Given the description of an element on the screen output the (x, y) to click on. 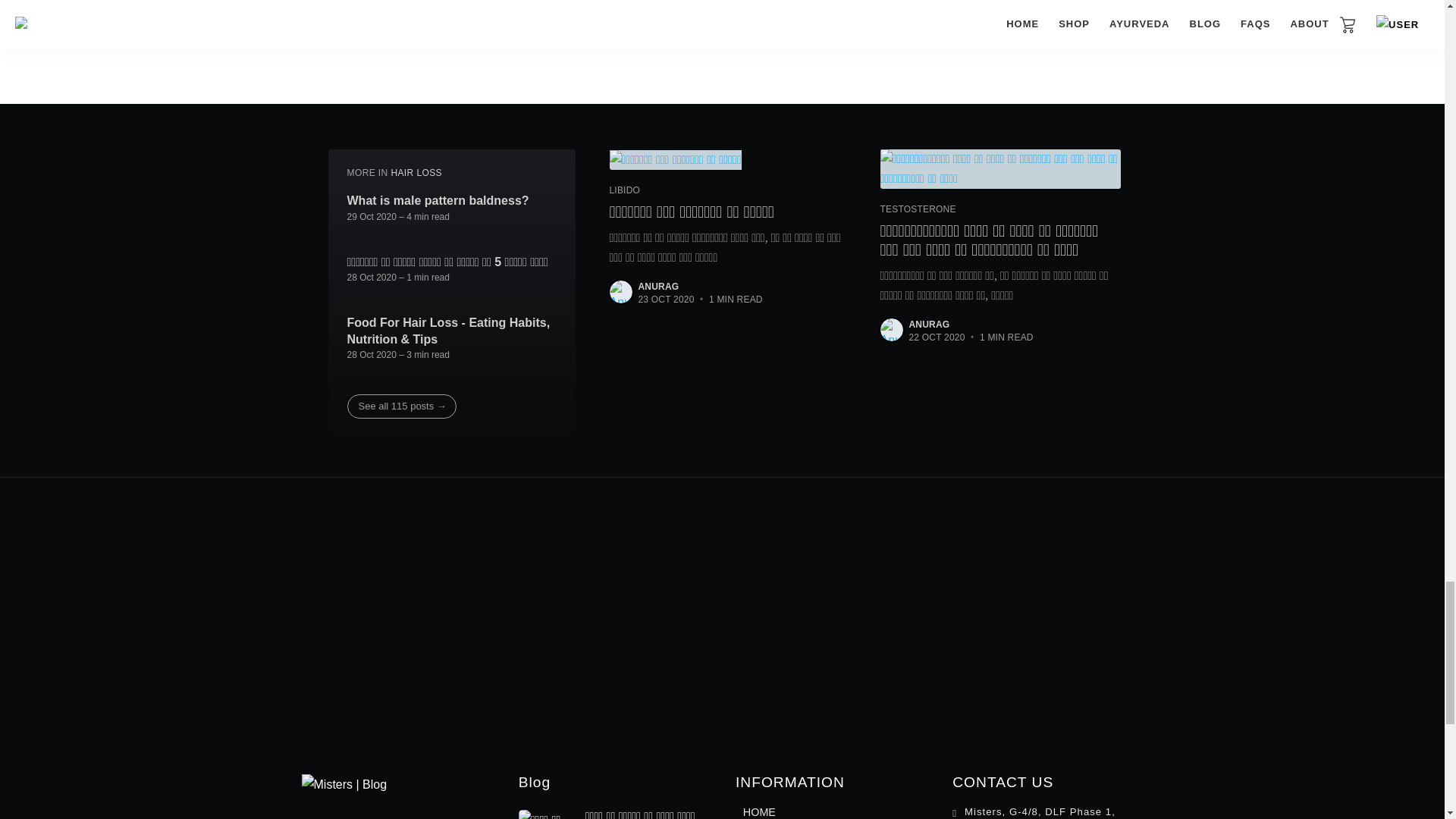
HOME (758, 810)
What is male pattern baldness? (438, 200)
ANURAG (928, 324)
HAIR LOSS (416, 172)
Blog (534, 781)
ANURAG (659, 286)
